Given the description of an element on the screen output the (x, y) to click on. 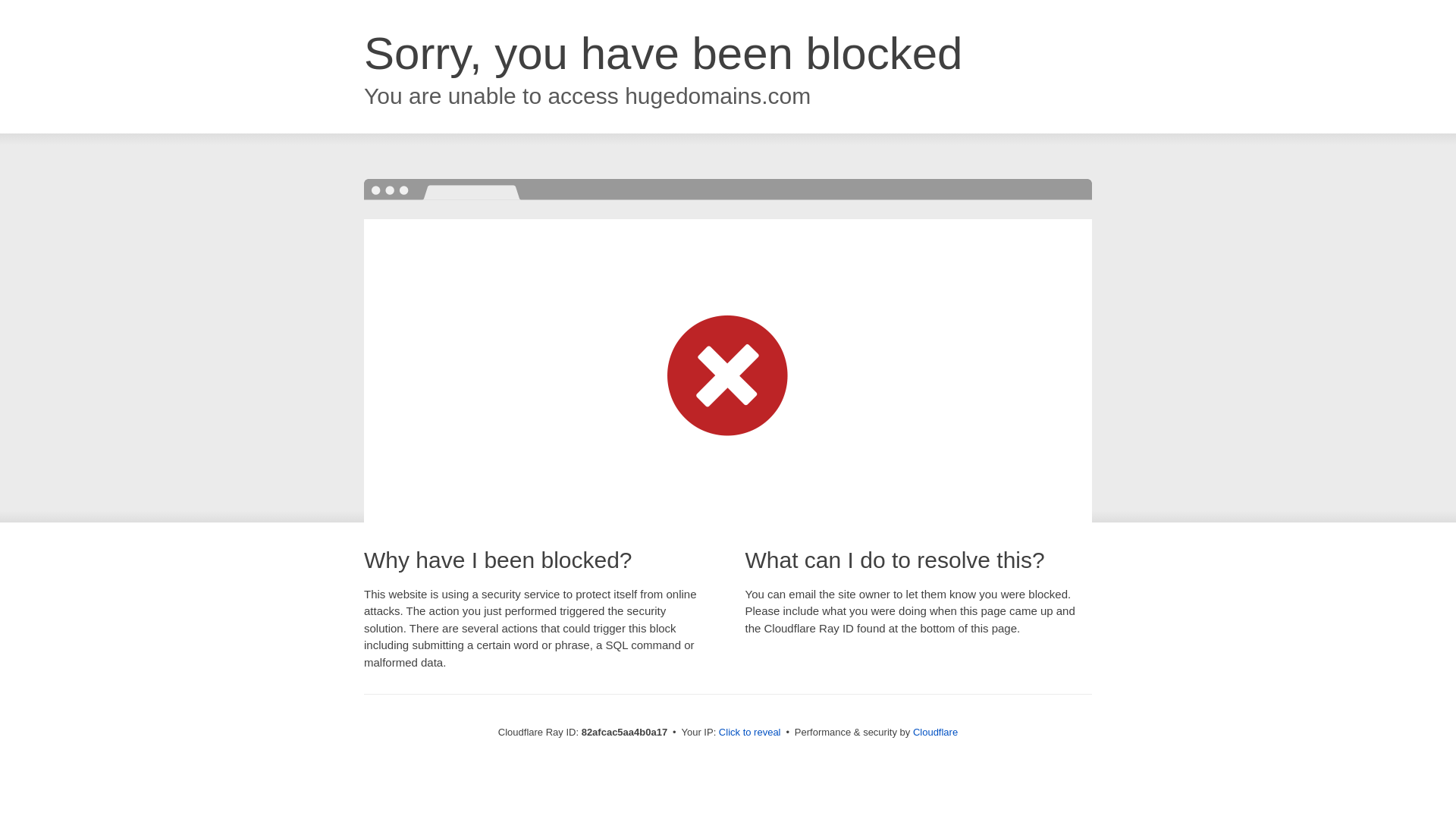
Cloudflare Element type: text (935, 731)
Click to reveal Element type: text (749, 732)
